Given the description of an element on the screen output the (x, y) to click on. 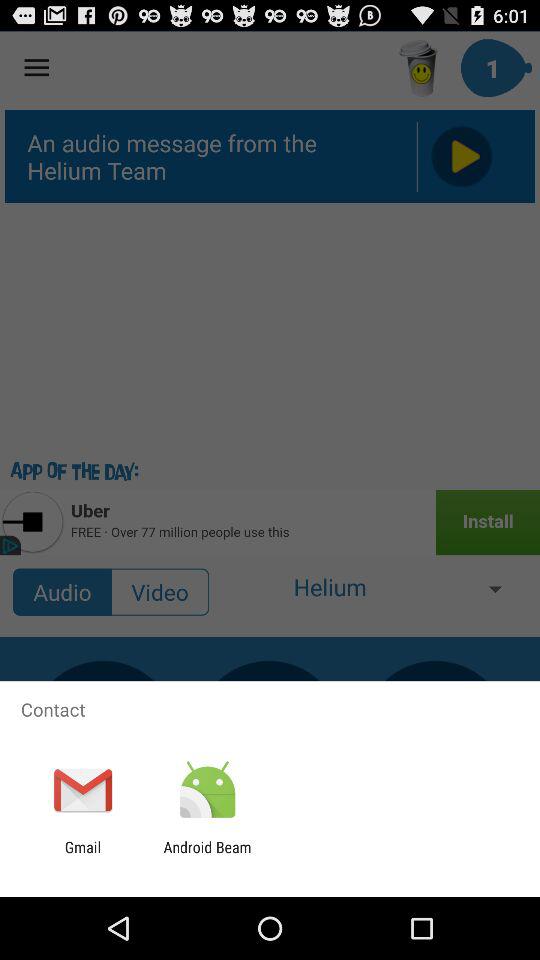
open the gmail item (82, 856)
